Given the description of an element on the screen output the (x, y) to click on. 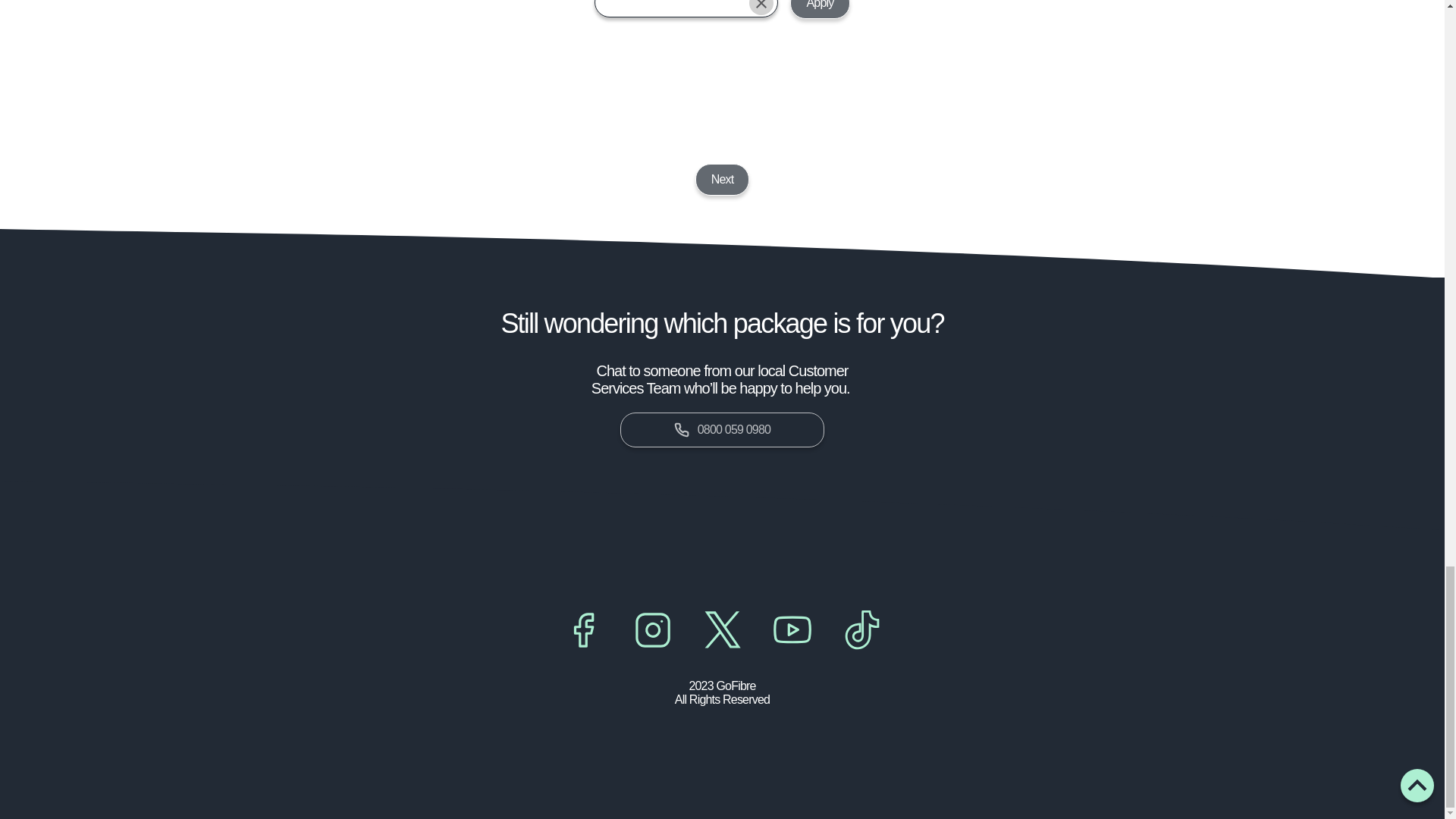
   0800 059 0980 (722, 429)
   0800 059 0980 (722, 429)
Next (722, 179)
Apply (819, 9)
